Given the description of an element on the screen output the (x, y) to click on. 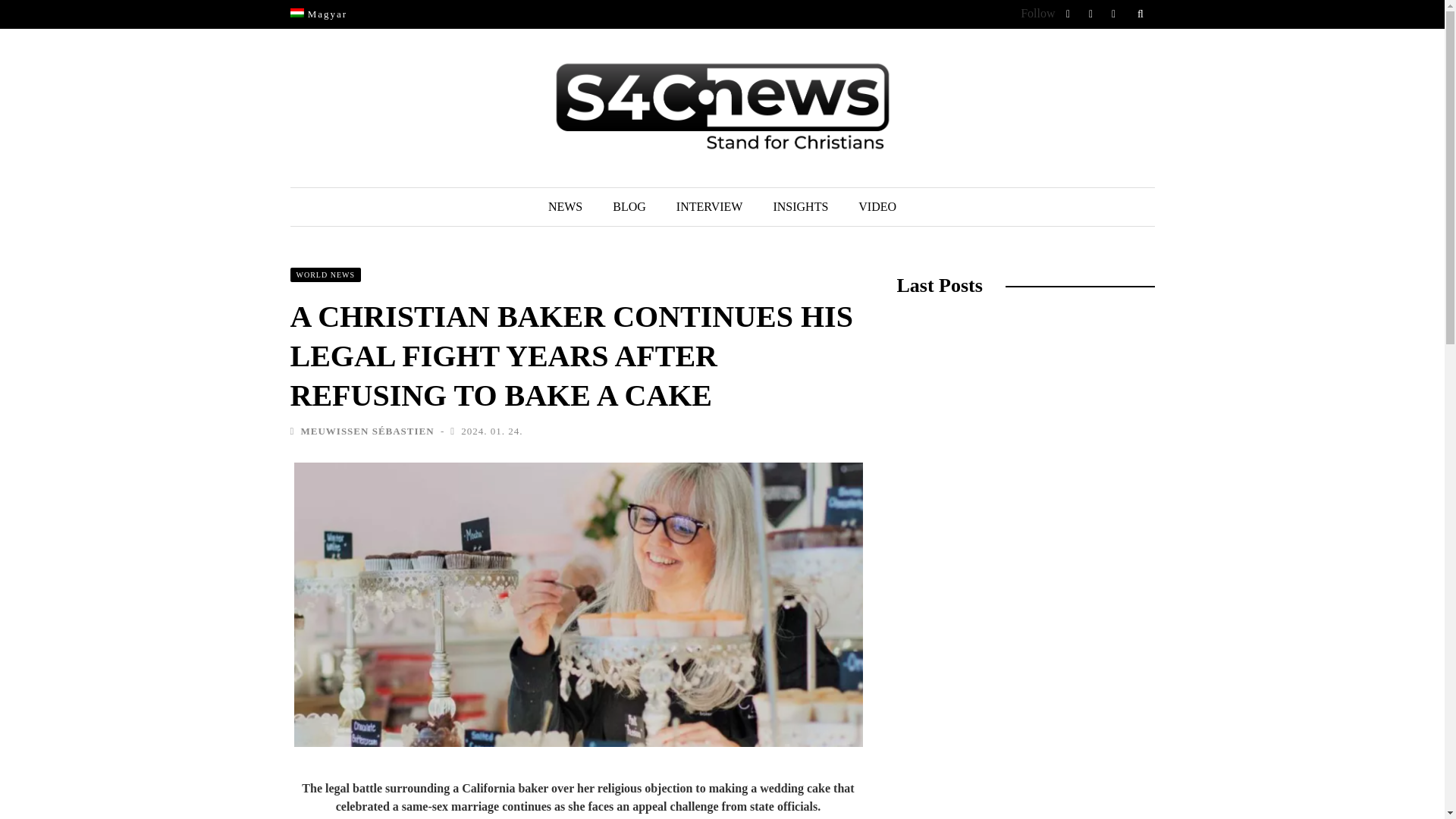
WORLD NEWS (325, 274)
Magyar (318, 13)
Follow (1037, 12)
INTERVIEW (709, 207)
Magyar (318, 13)
NEWS (564, 207)
Catholic Church in India fights for the rights of farmers (1014, 804)
INSIGHTS (800, 207)
BLOG (628, 207)
VIDEO (877, 207)
